Given the description of an element on the screen output the (x, y) to click on. 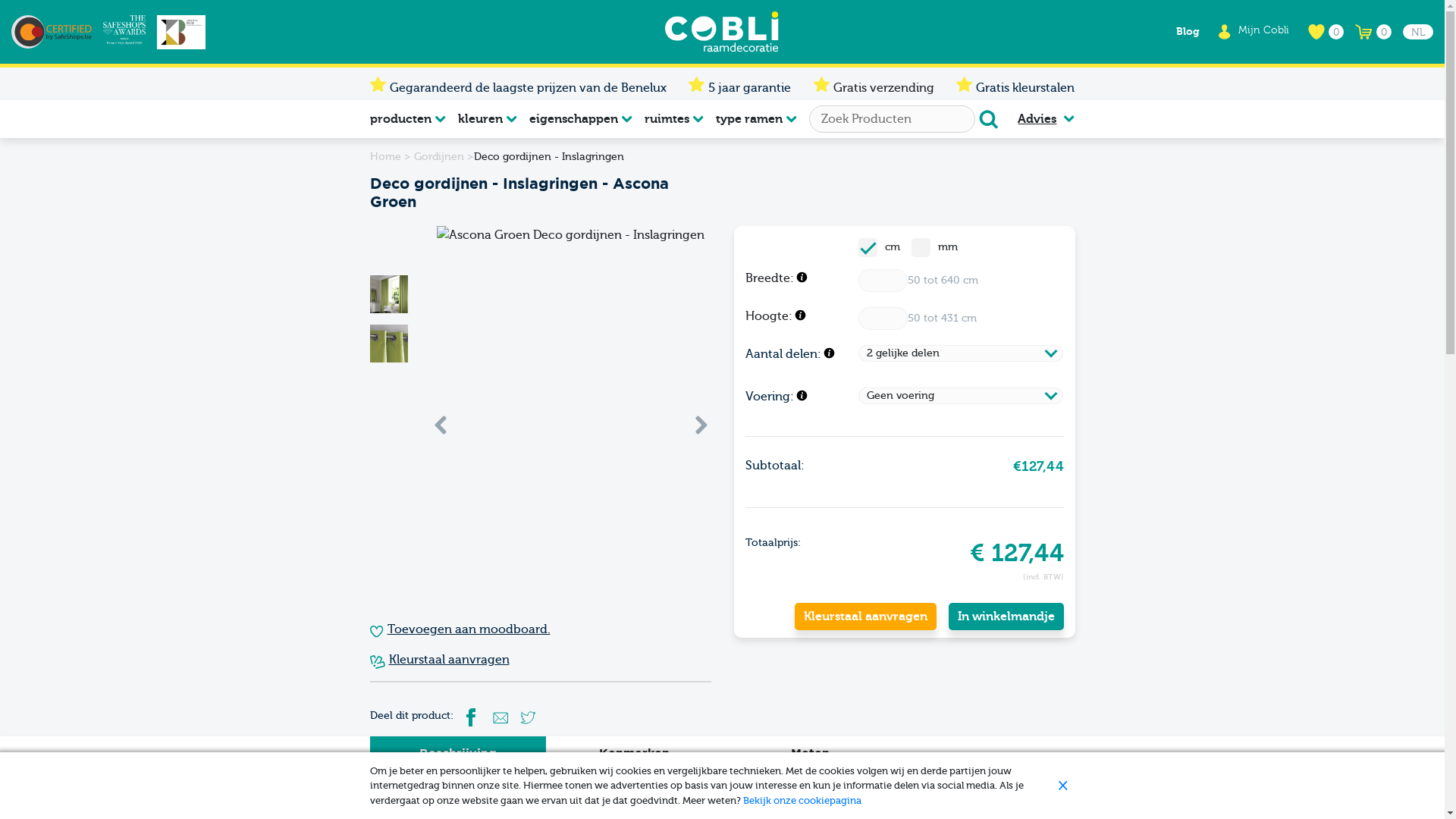
Gratis kleurstalen Element type: text (1024, 87)
type ramen Element type: text (756, 119)
Bekijk onze cookiepagina Element type: text (802, 800)
Ascona Groen Deco gordijnen - Inslagringen Element type: hover (570, 415)
Mijn Cobli Element type: text (1263, 30)
producten Element type: text (407, 119)
kleuren Element type: text (487, 119)
Blog Element type: text (1187, 31)
eigenschappen Element type: text (580, 119)
In winkelmandje Element type: text (1005, 616)
ruimtes Element type: text (673, 119)
5 jaar garantie Element type: text (749, 87)
Gegarandeerd de laagste prijzen van de Benelux Element type: text (527, 87)
